Given the description of an element on the screen output the (x, y) to click on. 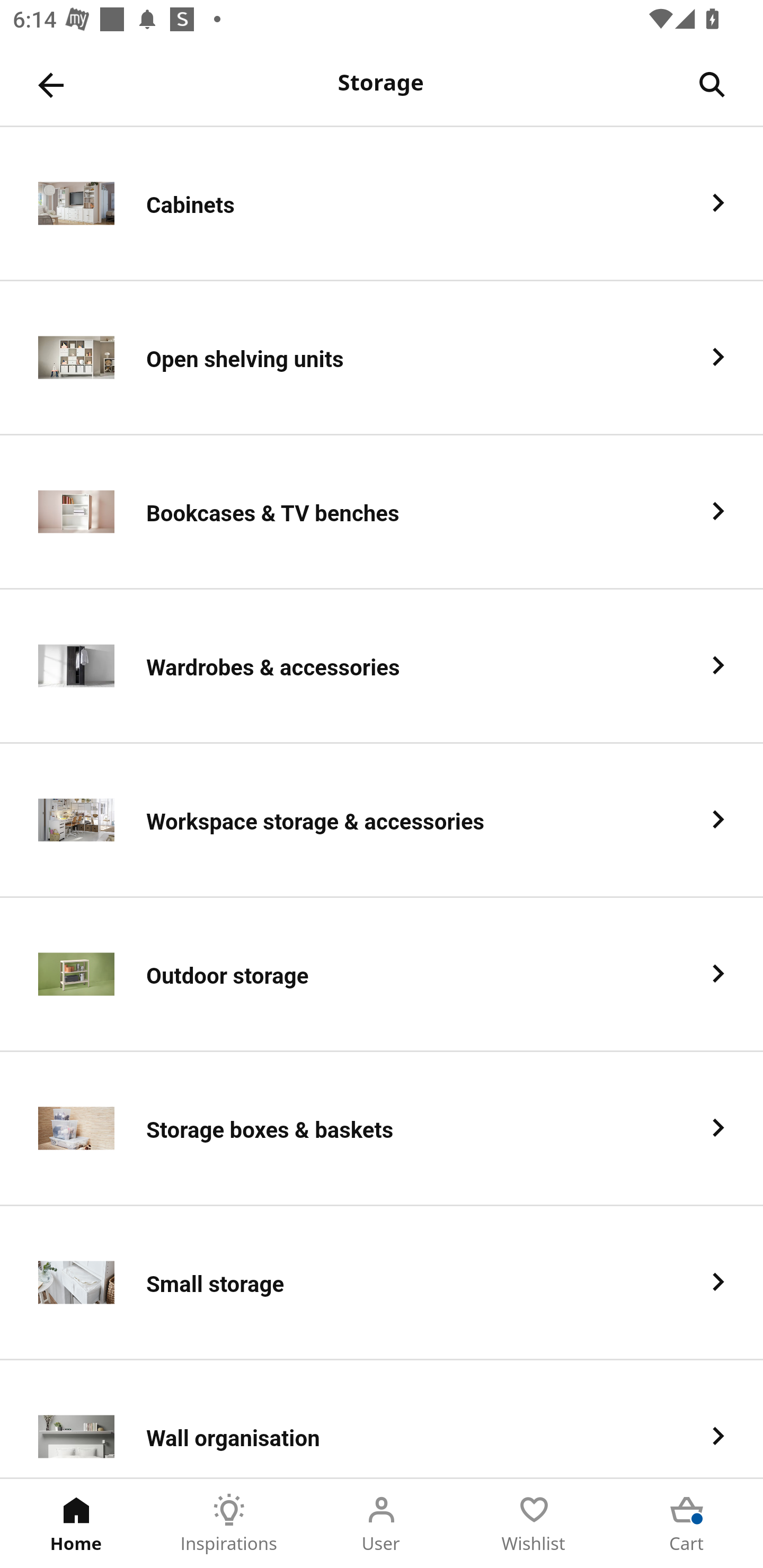
Cabinets (381, 203)
Open shelving units (381, 357)
Bookcases & TV benches (381, 512)
Wardrobes & accessories  (381, 666)
Workspace storage & accessories (381, 820)
Outdoor storage (381, 975)
Storage boxes & baskets (381, 1128)
Small storage (381, 1283)
Wall organisation (381, 1419)
Home
Tab 1 of 5 (76, 1522)
Inspirations
Tab 2 of 5 (228, 1522)
User
Tab 3 of 5 (381, 1522)
Wishlist
Tab 4 of 5 (533, 1522)
Cart
Tab 5 of 5 (686, 1522)
